Given the description of an element on the screen output the (x, y) to click on. 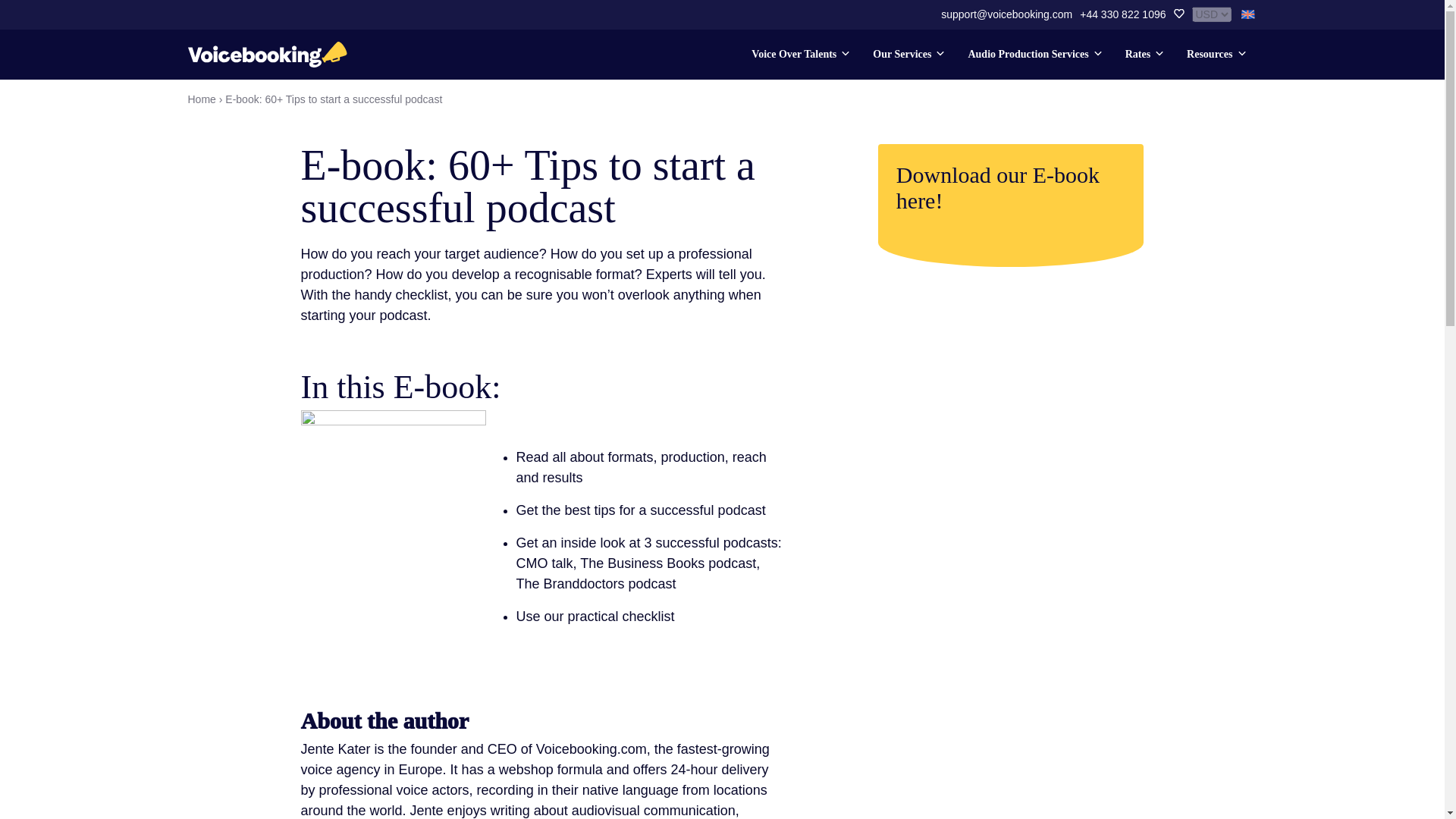
Voice Over Talents (799, 57)
Voicebooking.com (267, 54)
Select your language (1248, 14)
